Given the description of an element on the screen output the (x, y) to click on. 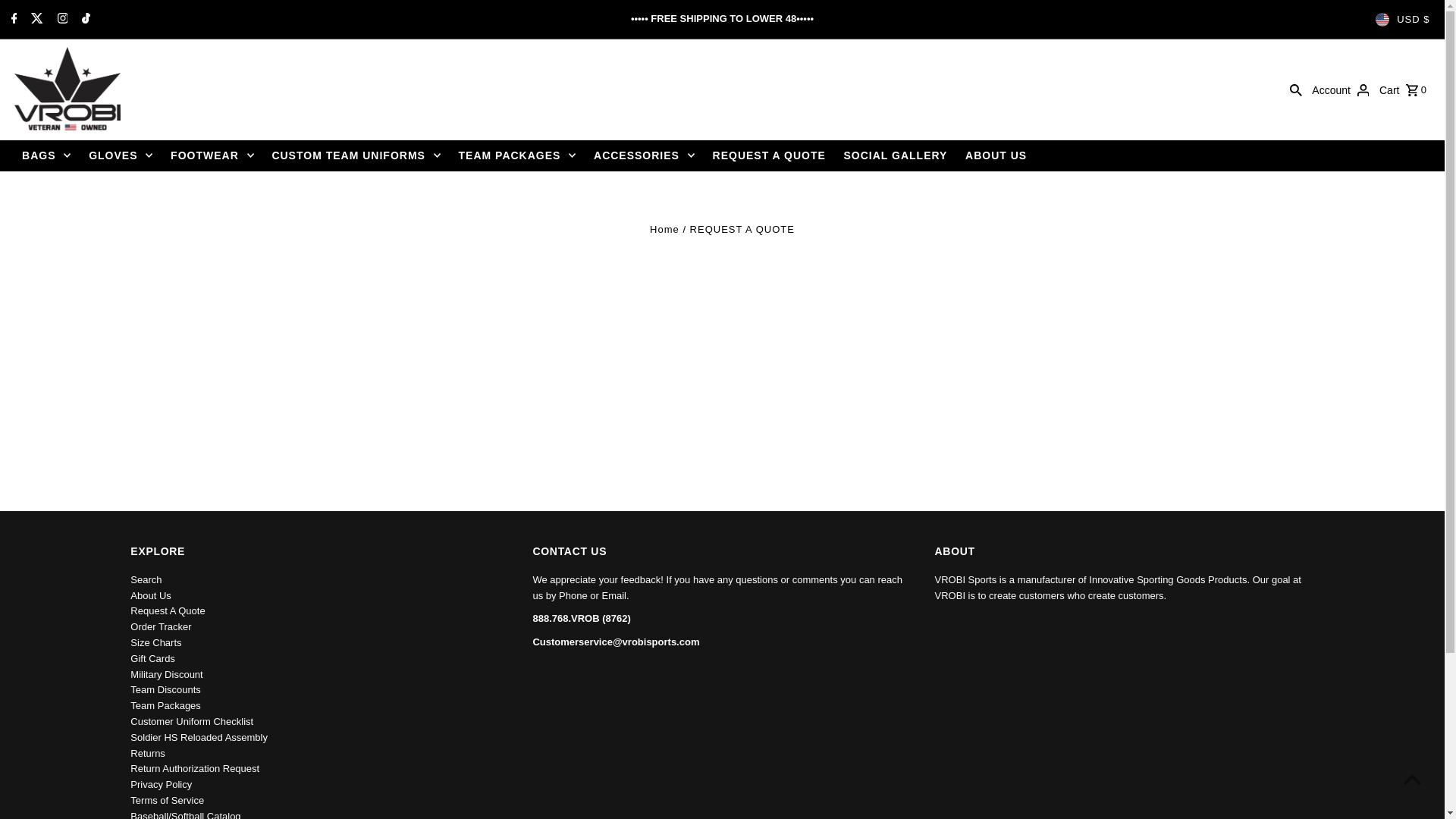
BAGS (46, 155)
Home (664, 229)
Skip to content (53, 18)
